Given the description of an element on the screen output the (x, y) to click on. 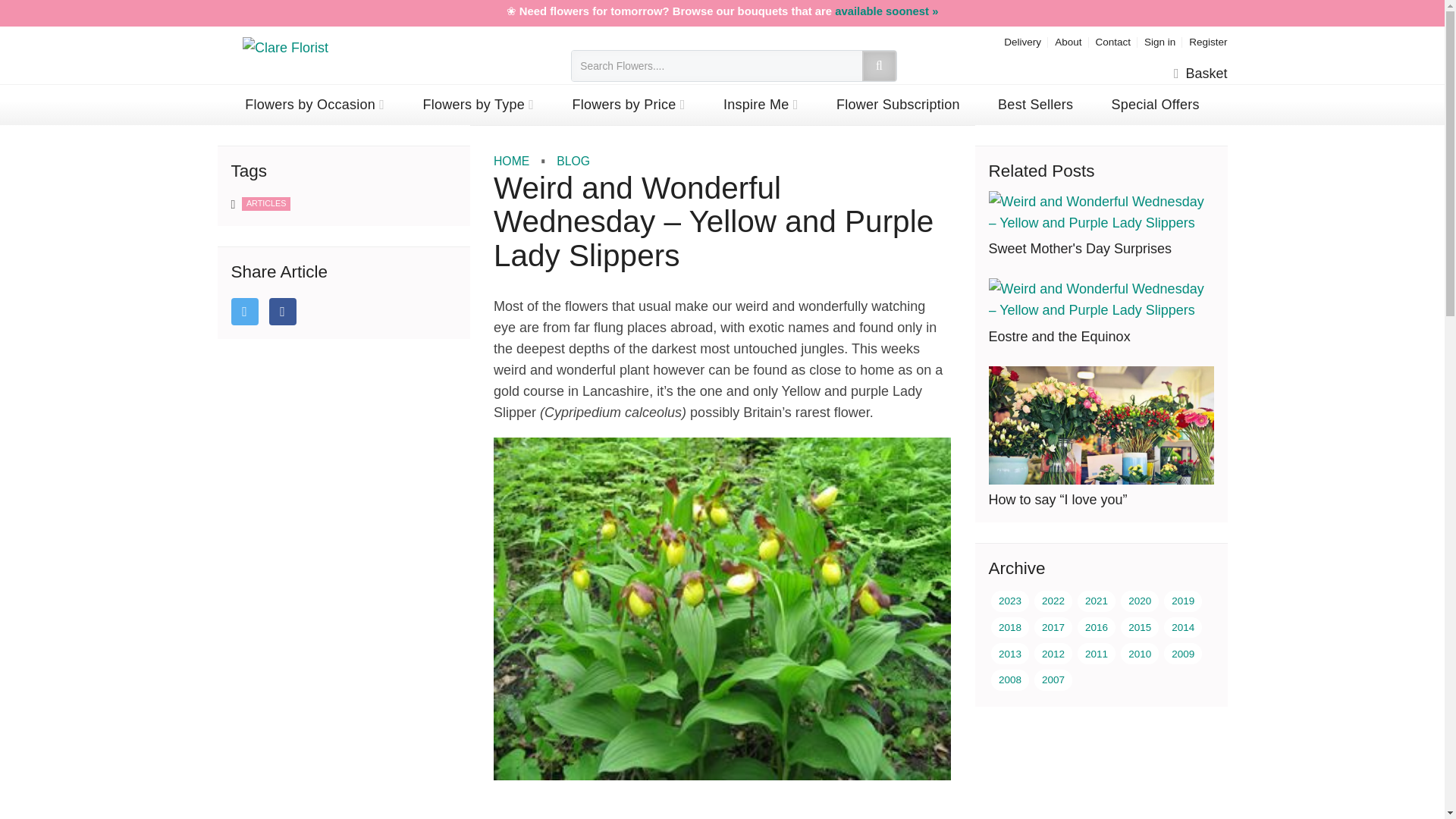
Show posts from 2017 (1052, 627)
About (1067, 41)
Show posts from 2021 (1096, 600)
Show posts from 2015 (1139, 627)
Show posts from 2012 (1052, 653)
Show posts from 2020 (1139, 600)
Show posts from 2007 (1052, 680)
Basket (1200, 73)
Show posts from 2016 (1096, 627)
Contact (1112, 41)
Show posts from 2010 (1139, 653)
Sign in (1159, 41)
Show posts from 2009 (1182, 653)
Flowers by Occasion (314, 105)
Delivery (1022, 41)
